Given the description of an element on the screen output the (x, y) to click on. 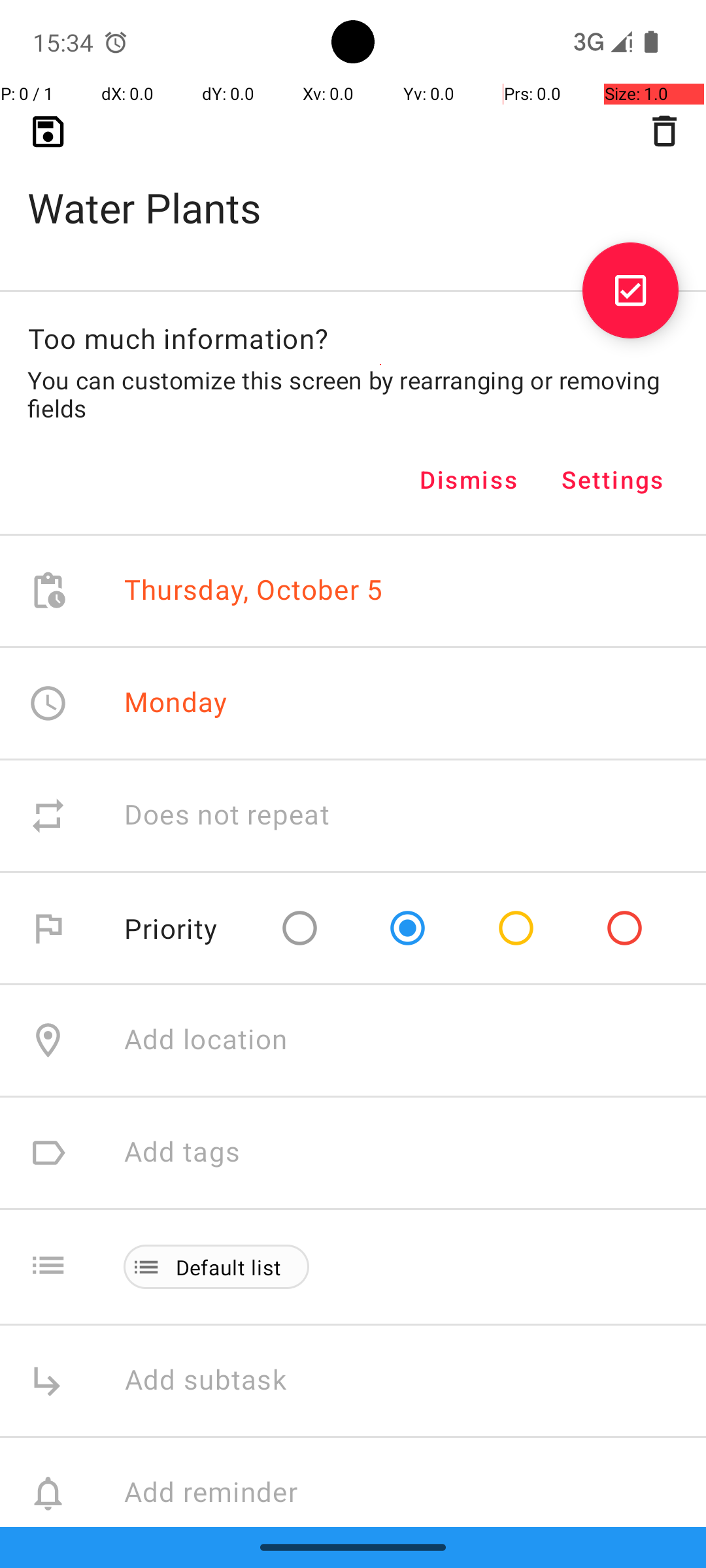
Thursday, October 5 Element type: android.widget.TextView (253, 590)
